Given the description of an element on the screen output the (x, y) to click on. 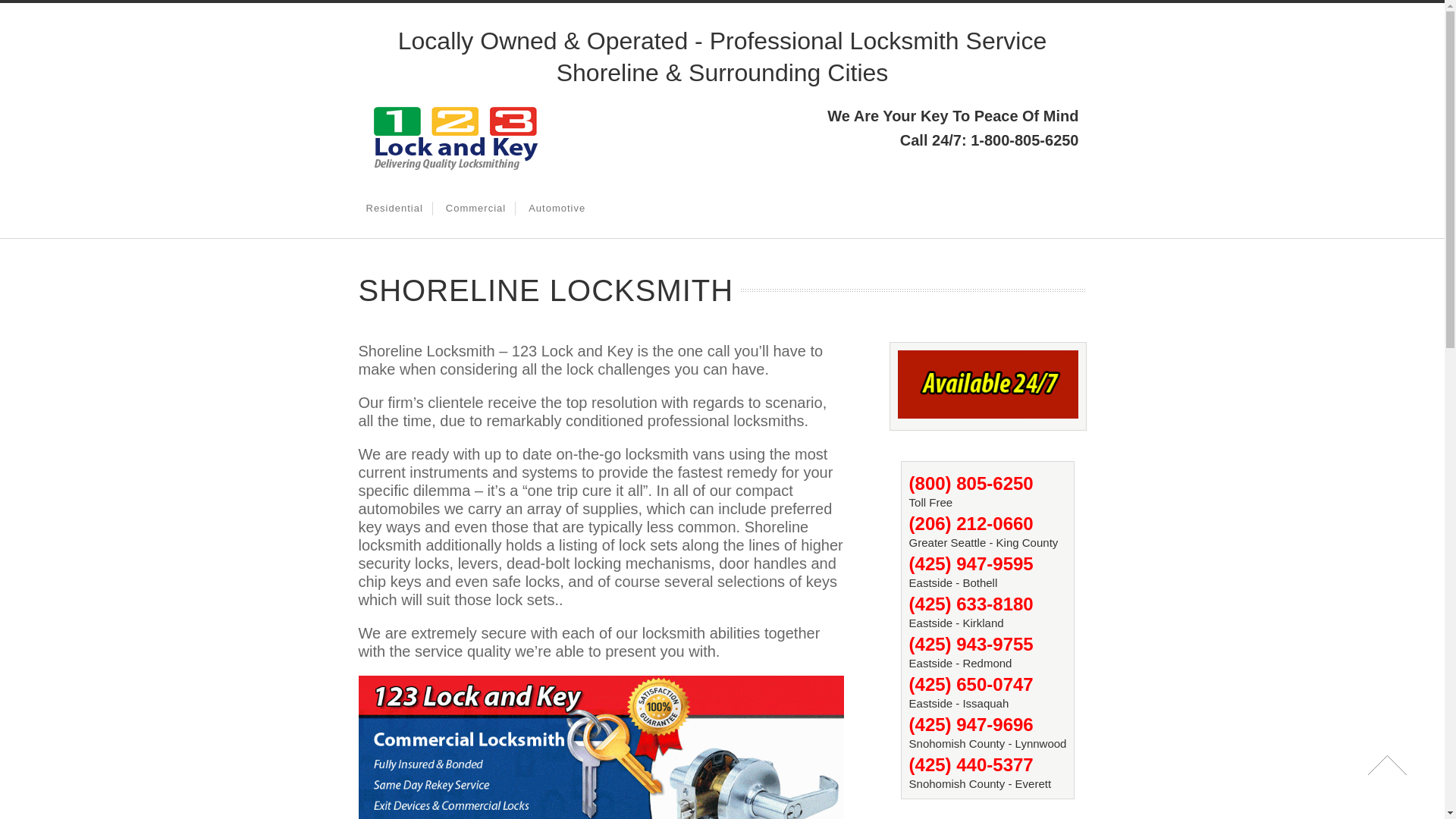
Commercial Element type: text (475, 208)
Automotive Element type: text (556, 208)
Shoreline Locksmith Element type: hover (452, 169)
Residential Element type: text (393, 208)
